Given the description of an element on the screen output the (x, y) to click on. 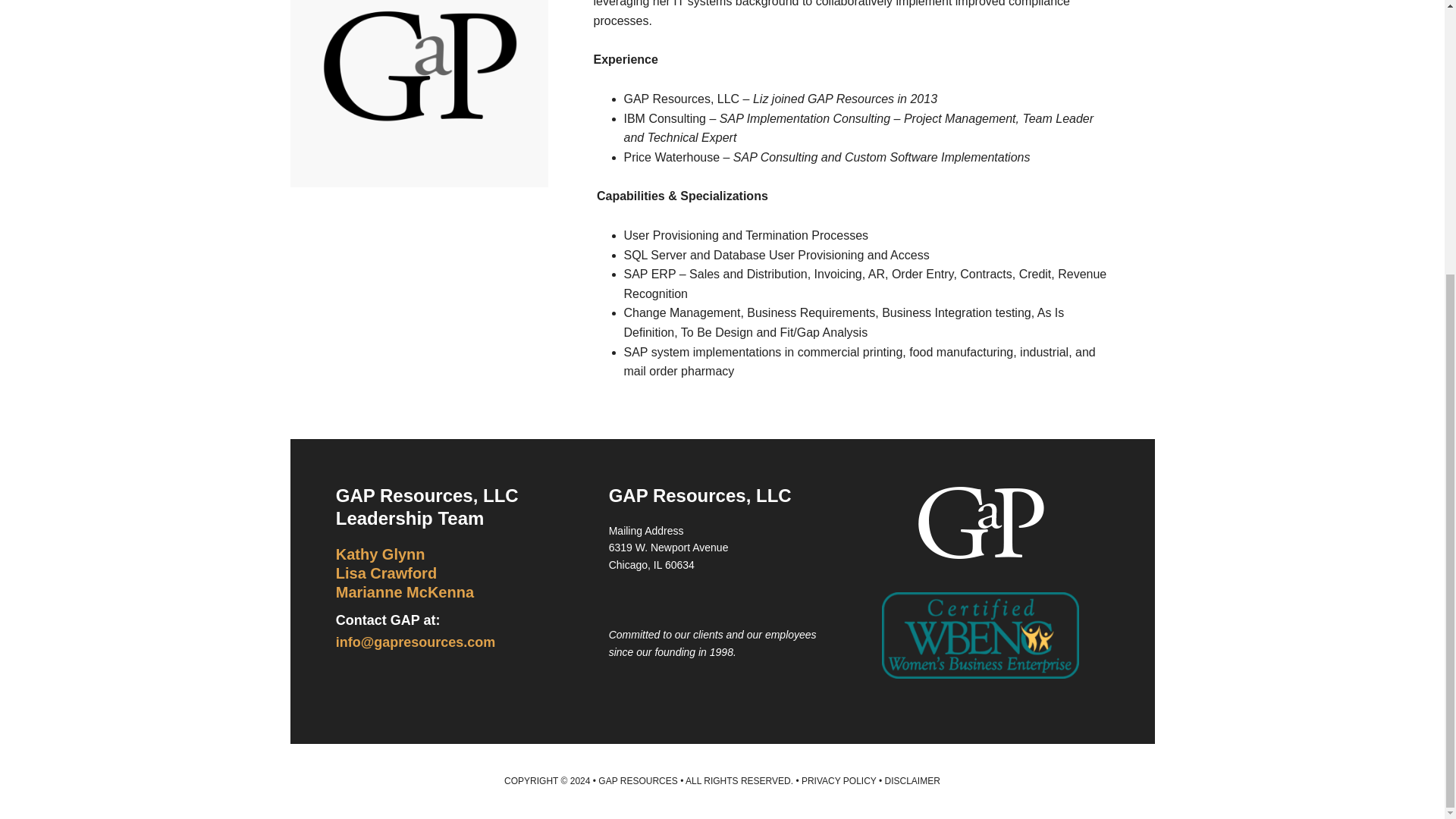
Kathy Glynn (380, 554)
GAP Resources (637, 780)
Marianne McKenna (405, 591)
GAP RESOURCES (637, 780)
DISCLAIMER (912, 780)
PRIVACY POLICY (839, 780)
Disclaimer (912, 780)
Lisa Crawford (386, 573)
Privacy Policy (839, 780)
